Given the description of an element on the screen output the (x, y) to click on. 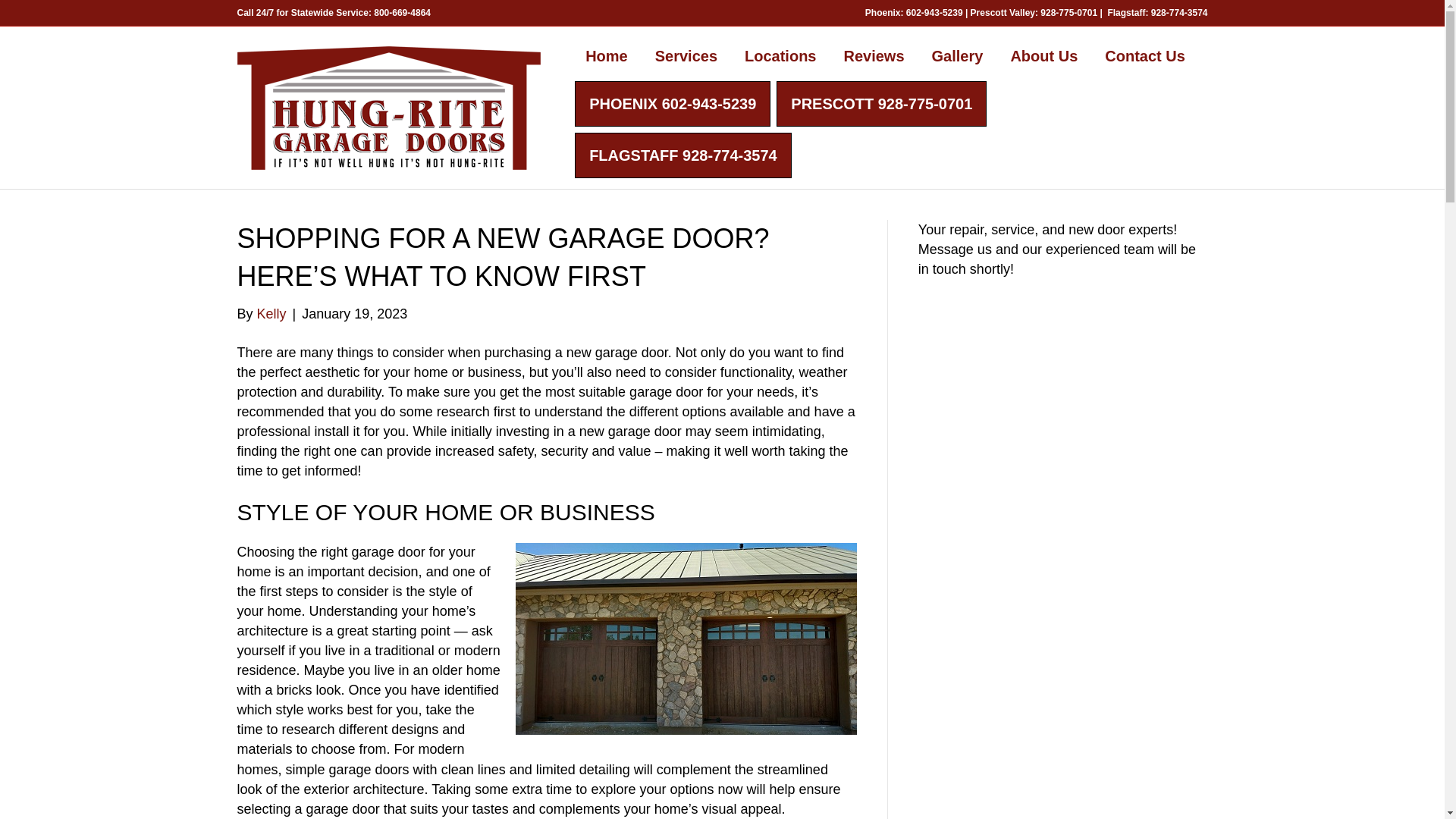
928-774-3574 (1179, 12)
Reviews (873, 55)
Home (607, 55)
928-775-0701 (1069, 12)
Locations (779, 55)
Services (686, 55)
602-943-5239 (933, 12)
800-669-4864 (402, 12)
